Given the description of an element on the screen output the (x, y) to click on. 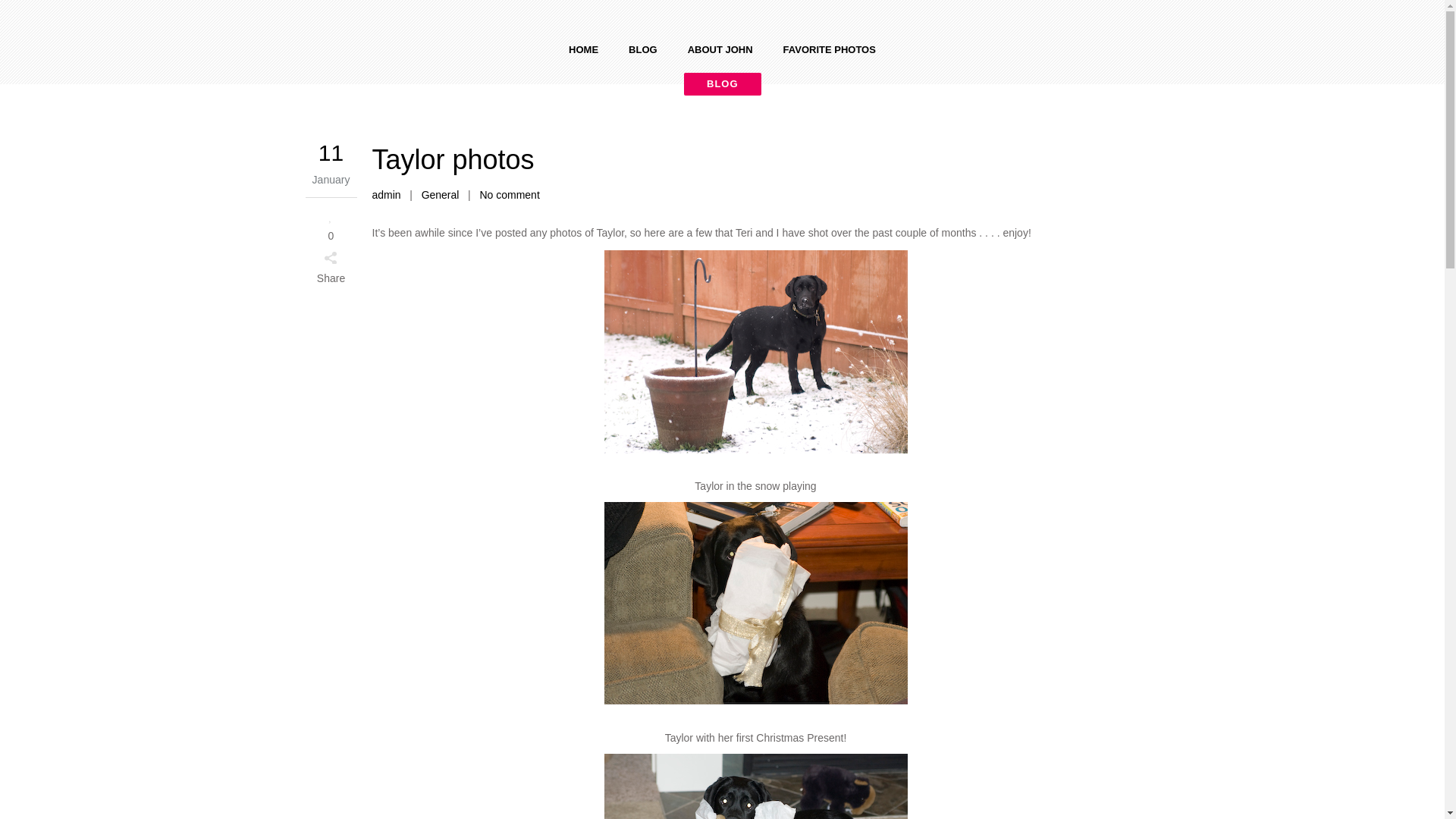
Like this (330, 224)
admin (385, 194)
ABOUT JOHN (720, 49)
General (441, 194)
FAVORITE PHOTOS (829, 49)
0 (330, 224)
No comment (508, 194)
